Given the description of an element on the screen output the (x, y) to click on. 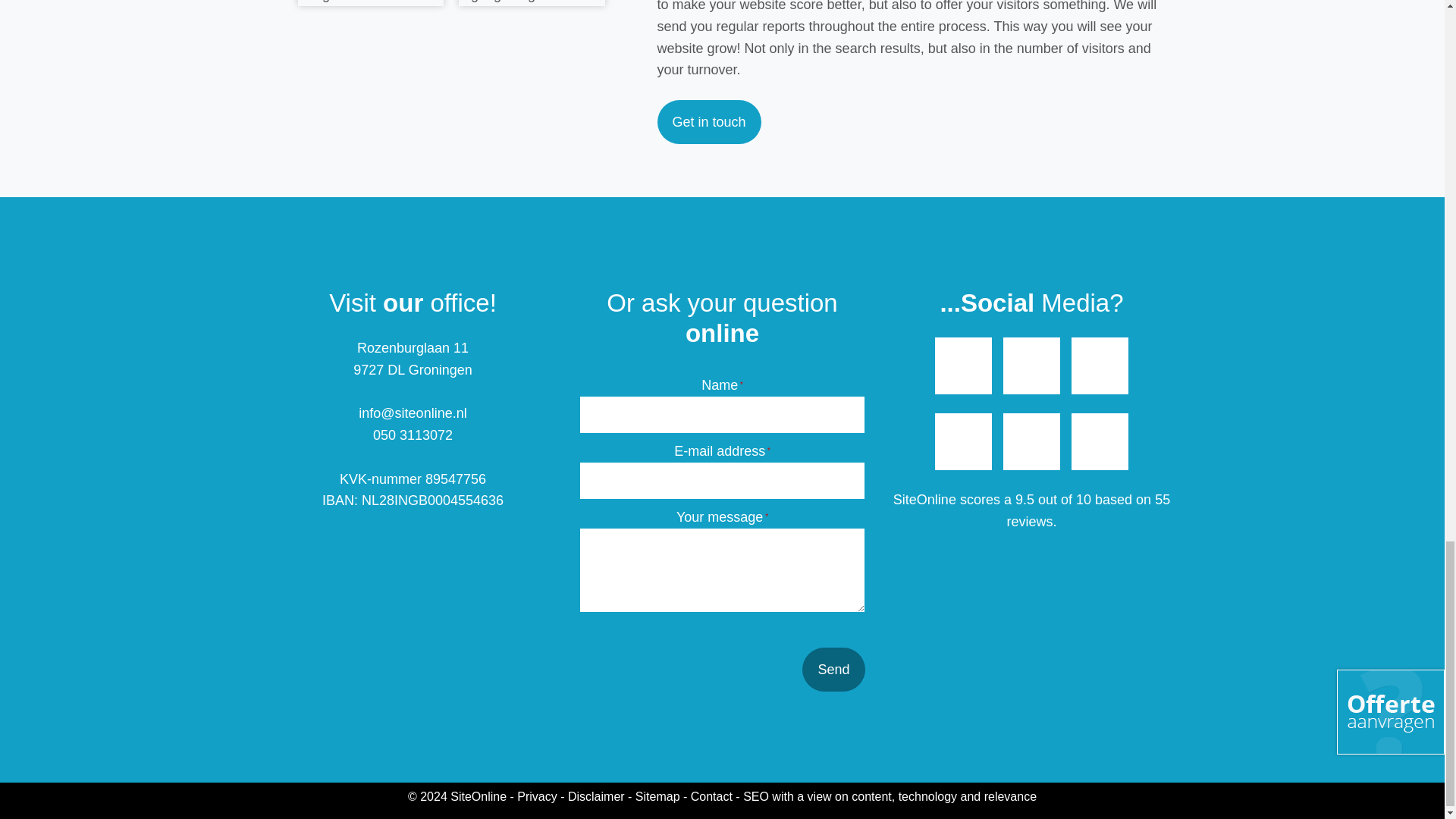
See us on Youtube (1031, 365)
See us on Instagram (1031, 441)
Follow us on Twitter (1099, 365)
Follow us on Linkedin (1099, 441)
050 3113072 (412, 435)
Follow us on Facebook (962, 441)
Disclaimer (595, 796)
Follow us on Facebook (962, 365)
reviews (1029, 521)
Get in touch (708, 121)
Send (833, 669)
Sitemap (656, 796)
Privacy (536, 796)
Contact (711, 796)
Send (833, 669)
